Given the description of an element on the screen output the (x, y) to click on. 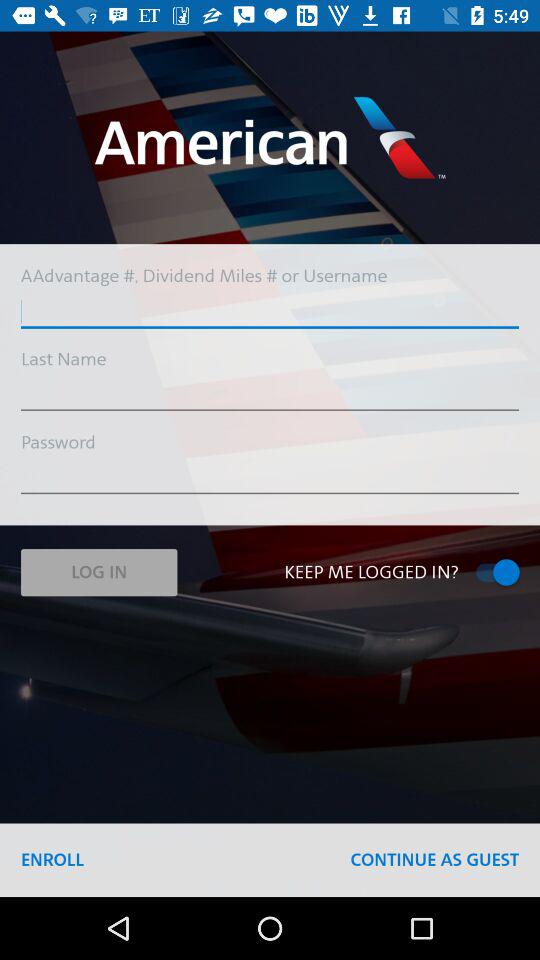
jump to log in (98, 572)
